Given the description of an element on the screen output the (x, y) to click on. 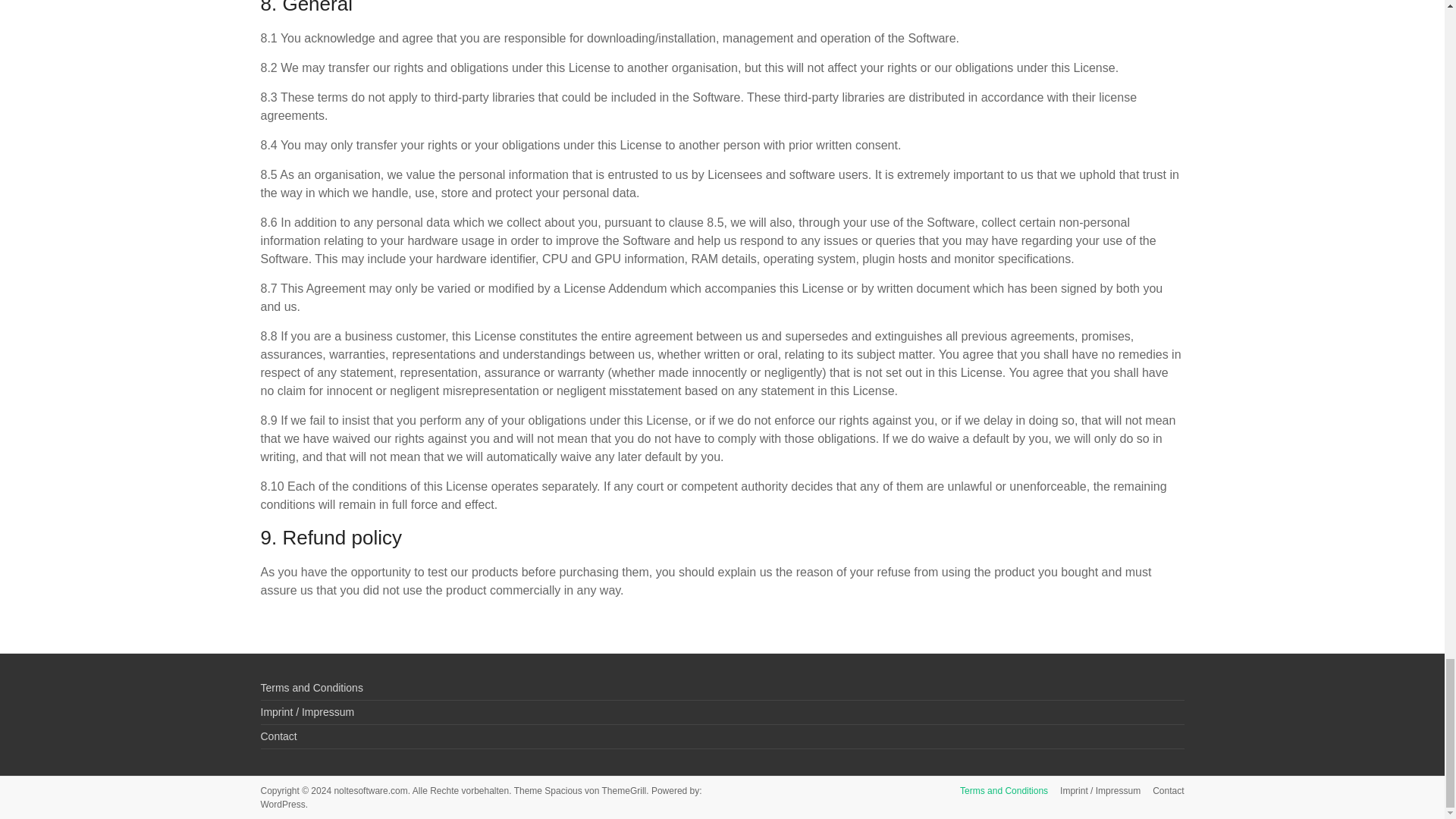
Terms and Conditions (311, 687)
noltesoftware.com (370, 790)
Contact (278, 736)
WordPress (282, 804)
WordPress (282, 804)
noltesoftware.com (370, 790)
Spacious (562, 790)
Spacious (562, 790)
Contact (1161, 791)
Terms and Conditions (997, 791)
